Given the description of an element on the screen output the (x, y) to click on. 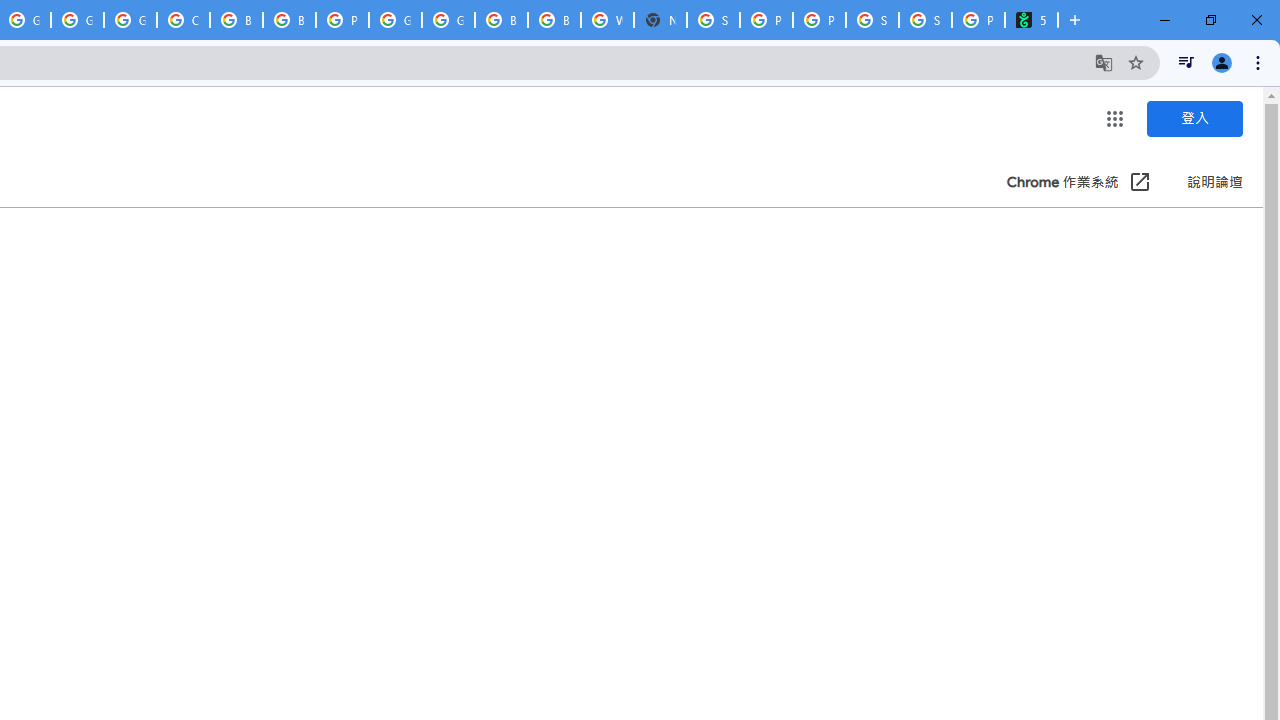
Google Cloud Platform (395, 20)
Google Cloud Platform (77, 20)
Sign in - Google Accounts (713, 20)
Translate this page (1103, 62)
Browse Chrome as a guest - Computer - Google Chrome Help (235, 20)
